Given the description of an element on the screen output the (x, y) to click on. 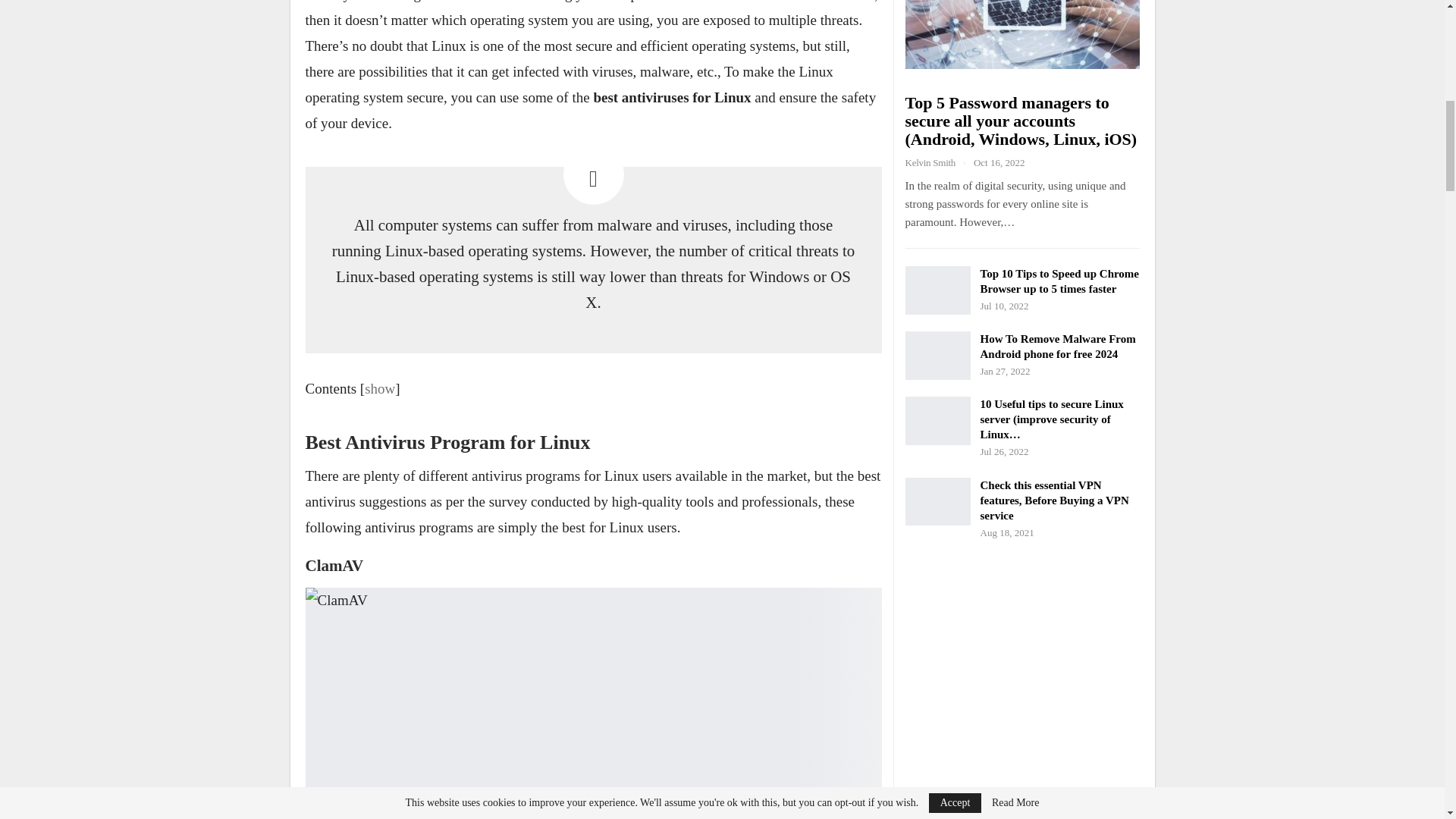
show (379, 388)
Browse Author Articles (939, 162)
ClamAV (592, 703)
